Given the description of an element on the screen output the (x, y) to click on. 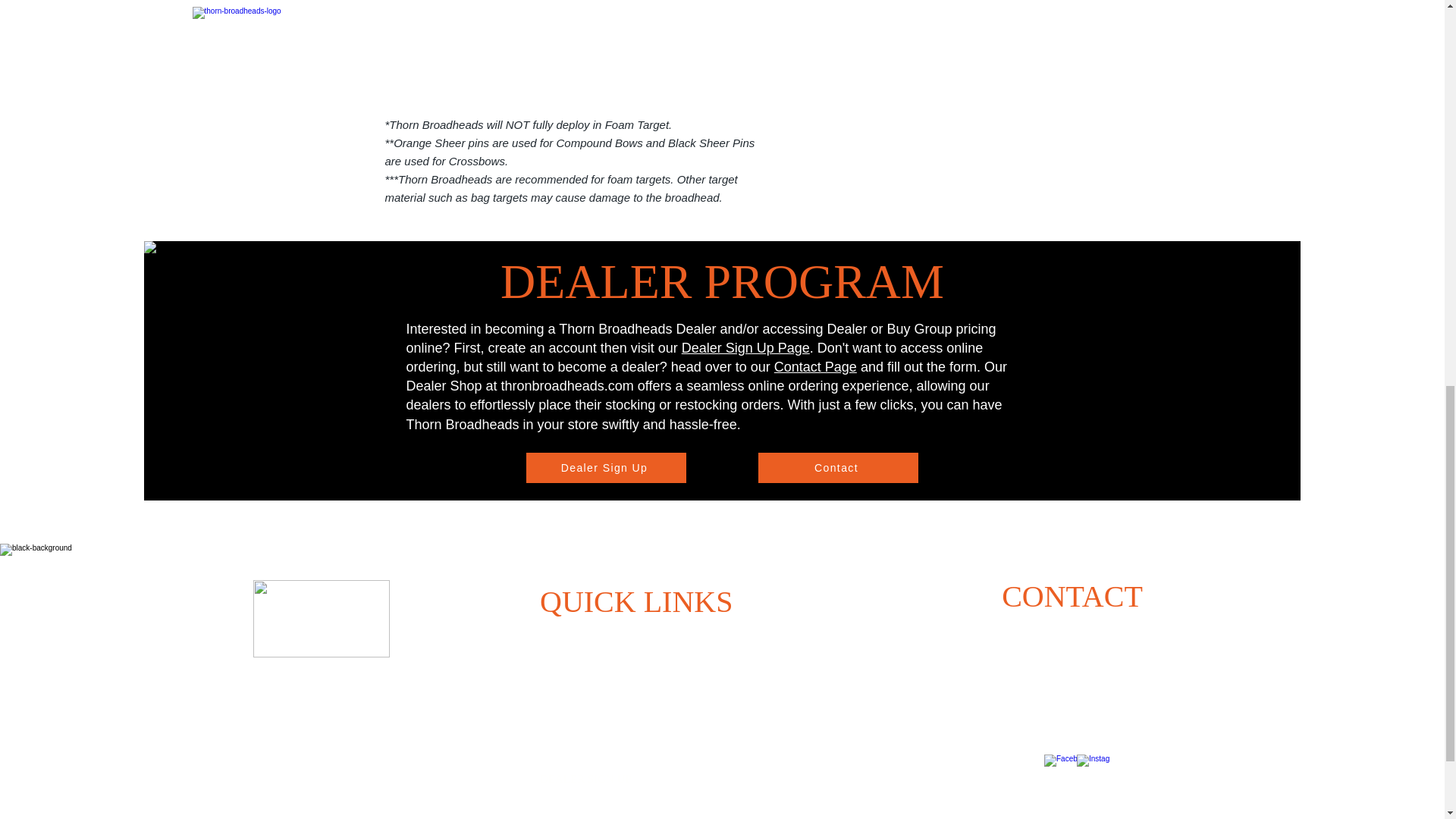
Contact (838, 467)
THORN NATION (582, 751)
CONTACT (568, 642)
PRIVACY POLICY (590, 696)
Contact Page (815, 366)
Dealer Sign Up (605, 467)
PRO STAFF ORDERING  (606, 724)
Dealer Sign Up Page (745, 347)
SHIPPING AND RETURNS (612, 669)
DEALER SHOP (577, 806)
DEALER SIGN UP (585, 778)
